Given the description of an element on the screen output the (x, y) to click on. 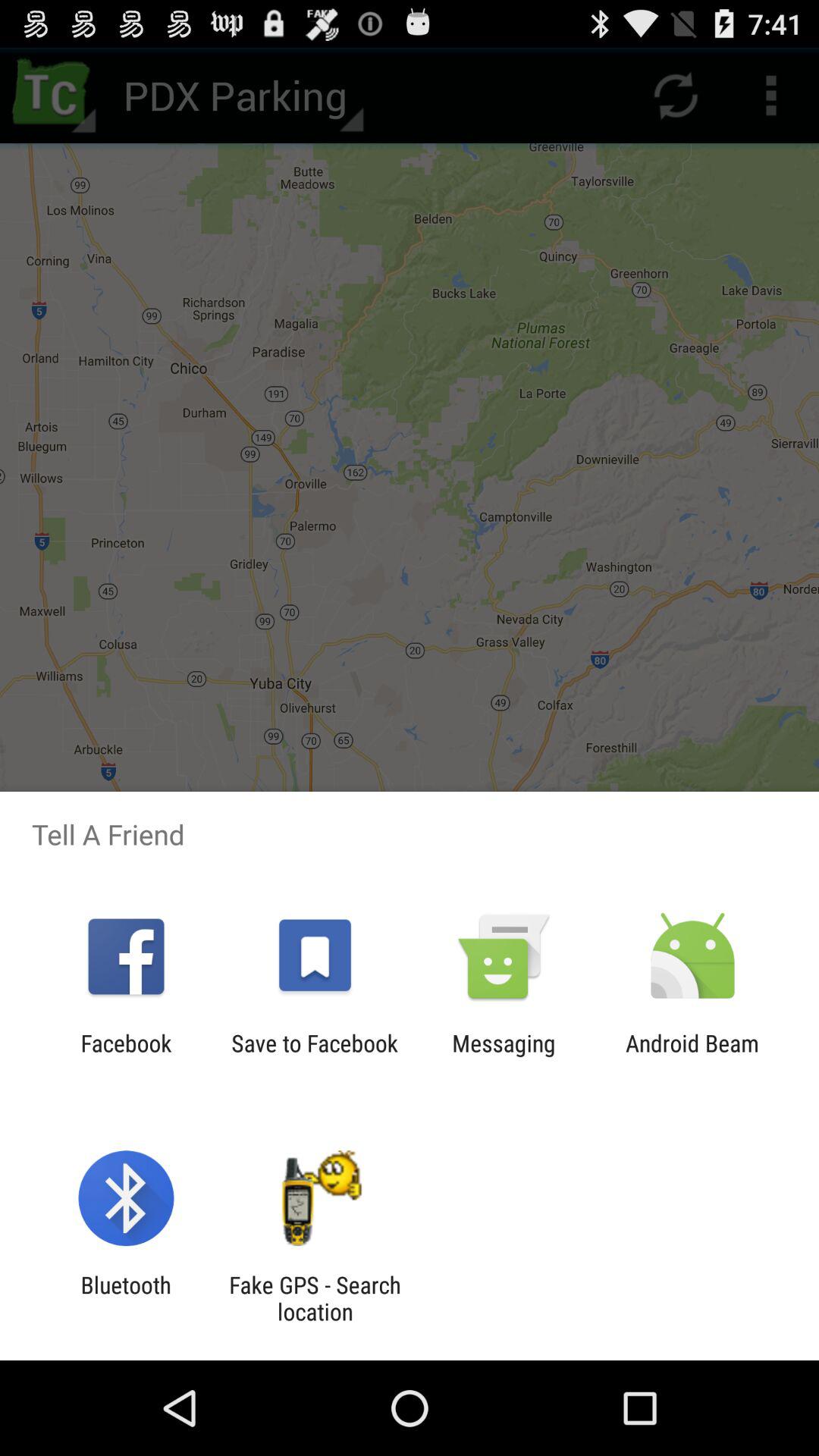
select app next to save to facebook (503, 1056)
